Given the description of an element on the screen output the (x, y) to click on. 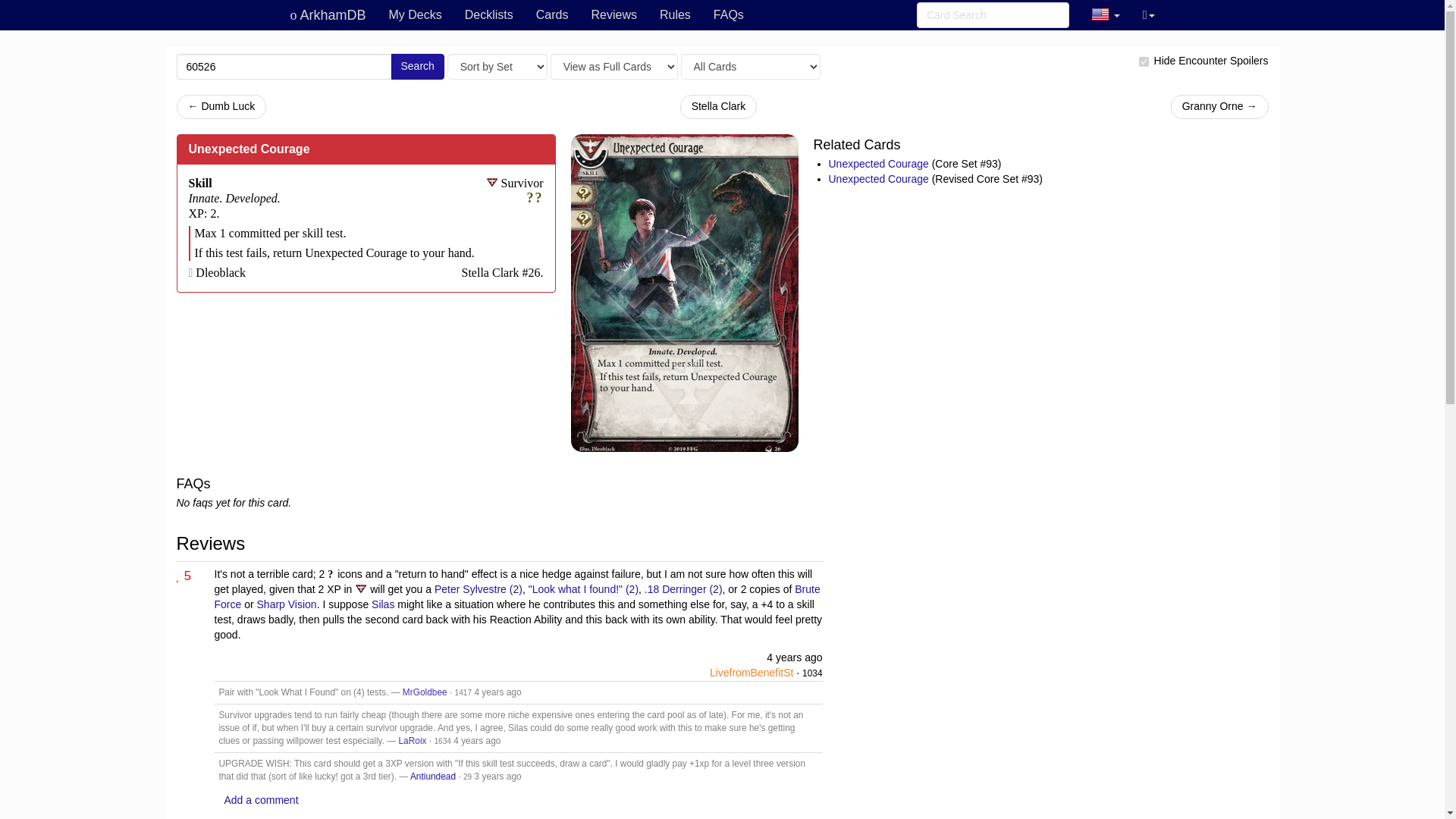
60526 (283, 66)
Unexpected Courage (879, 163)
My Decks (414, 15)
User Reputation (442, 741)
Reviews (613, 15)
Unexpected Courage (879, 178)
MrGoldbee (424, 692)
Friday, June 25, 2021 5:18 AM (497, 776)
LaRoix (411, 740)
Decklists (488, 15)
Brute Force (516, 596)
LivefromBenefitSt (751, 672)
Cards (551, 15)
Rules (674, 15)
FAQs (728, 15)
